Given the description of an element on the screen output the (x, y) to click on. 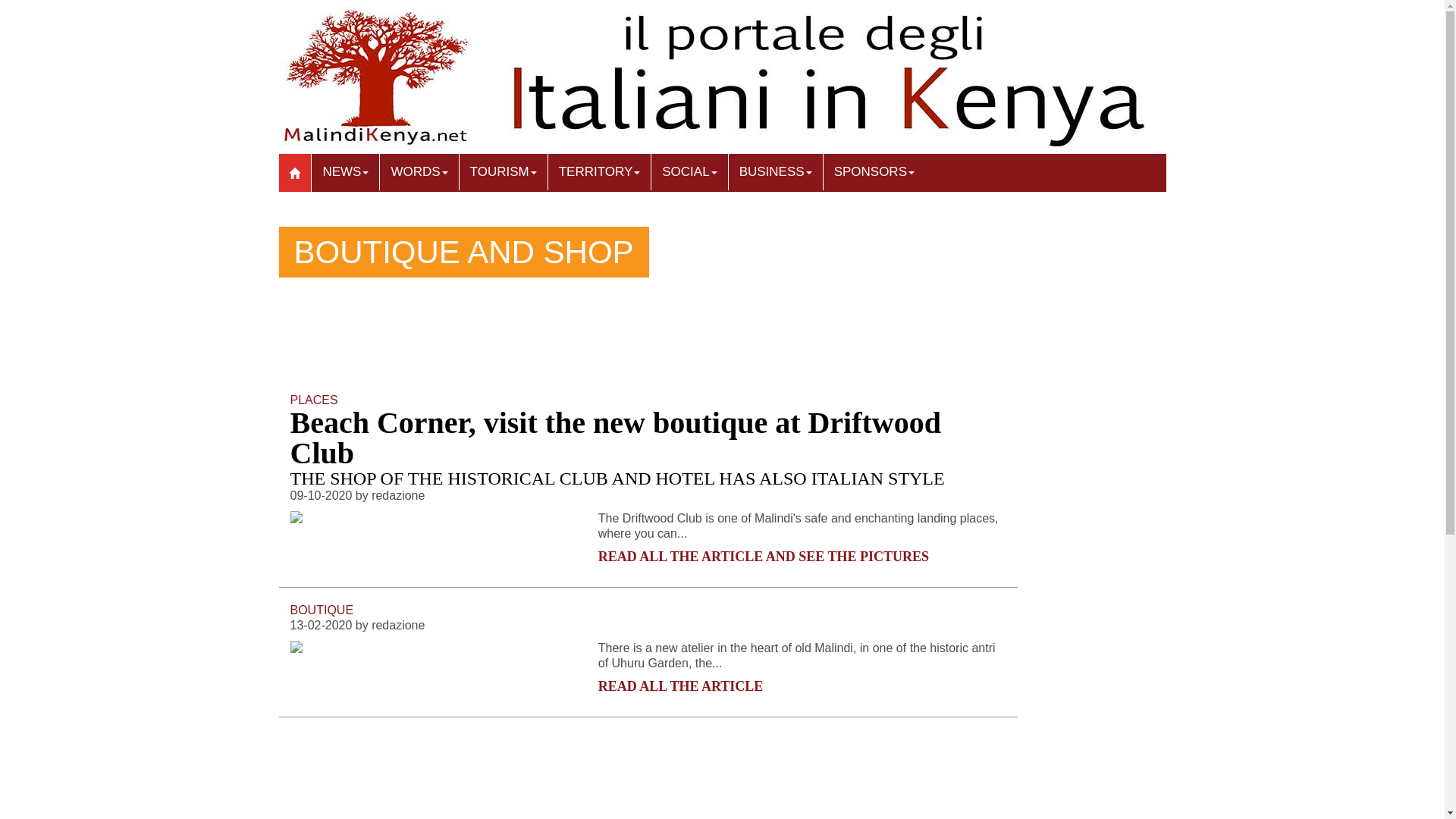
TOURISM (503, 171)
Advertisement (565, 766)
WORDS (419, 171)
TERRITORY (599, 171)
SOCIAL (688, 171)
NEWS (344, 171)
BUSINESS (775, 171)
